Given the description of an element on the screen output the (x, y) to click on. 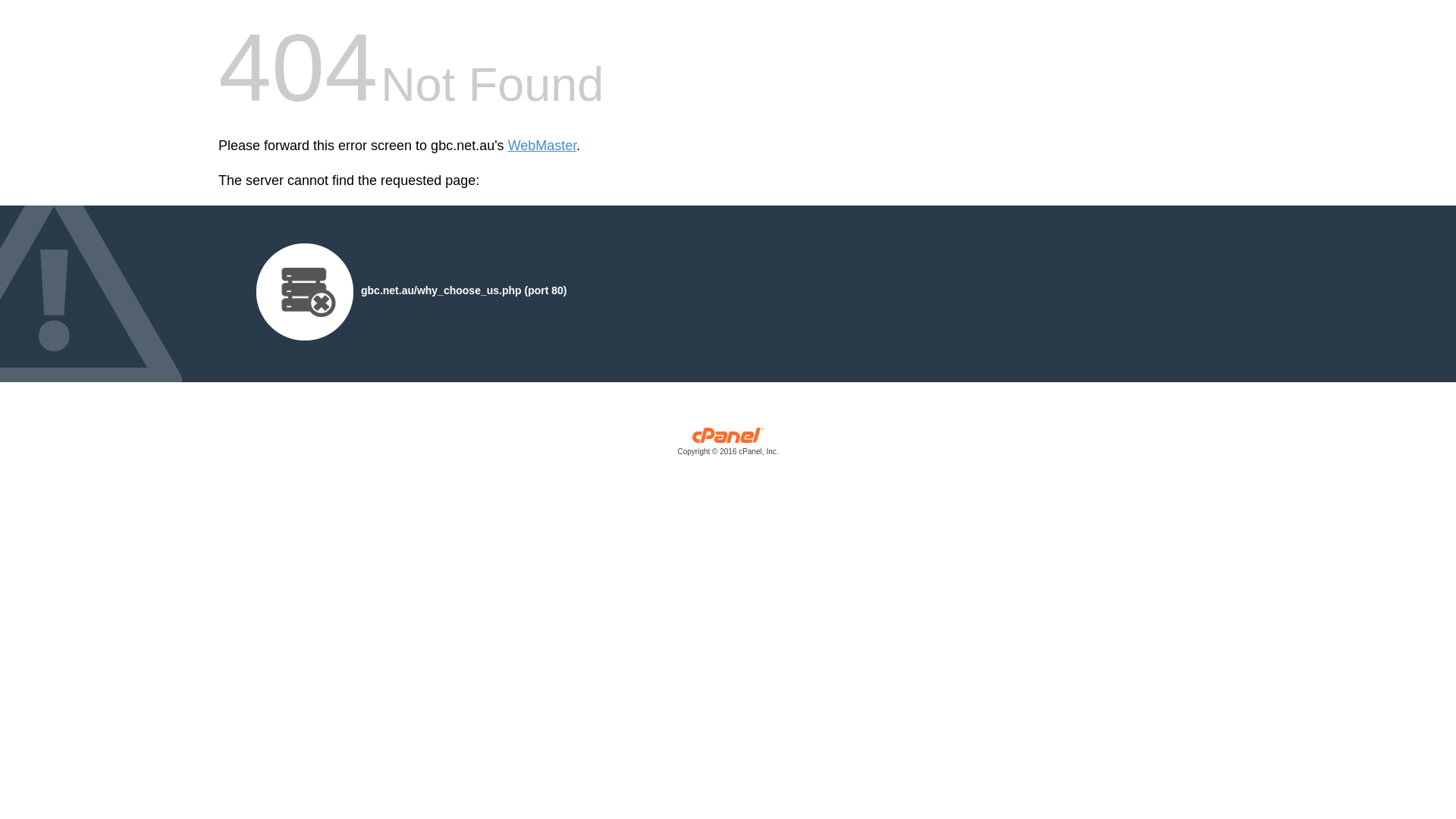
WebMaster Element type: text (542, 145)
